Given the description of an element on the screen output the (x, y) to click on. 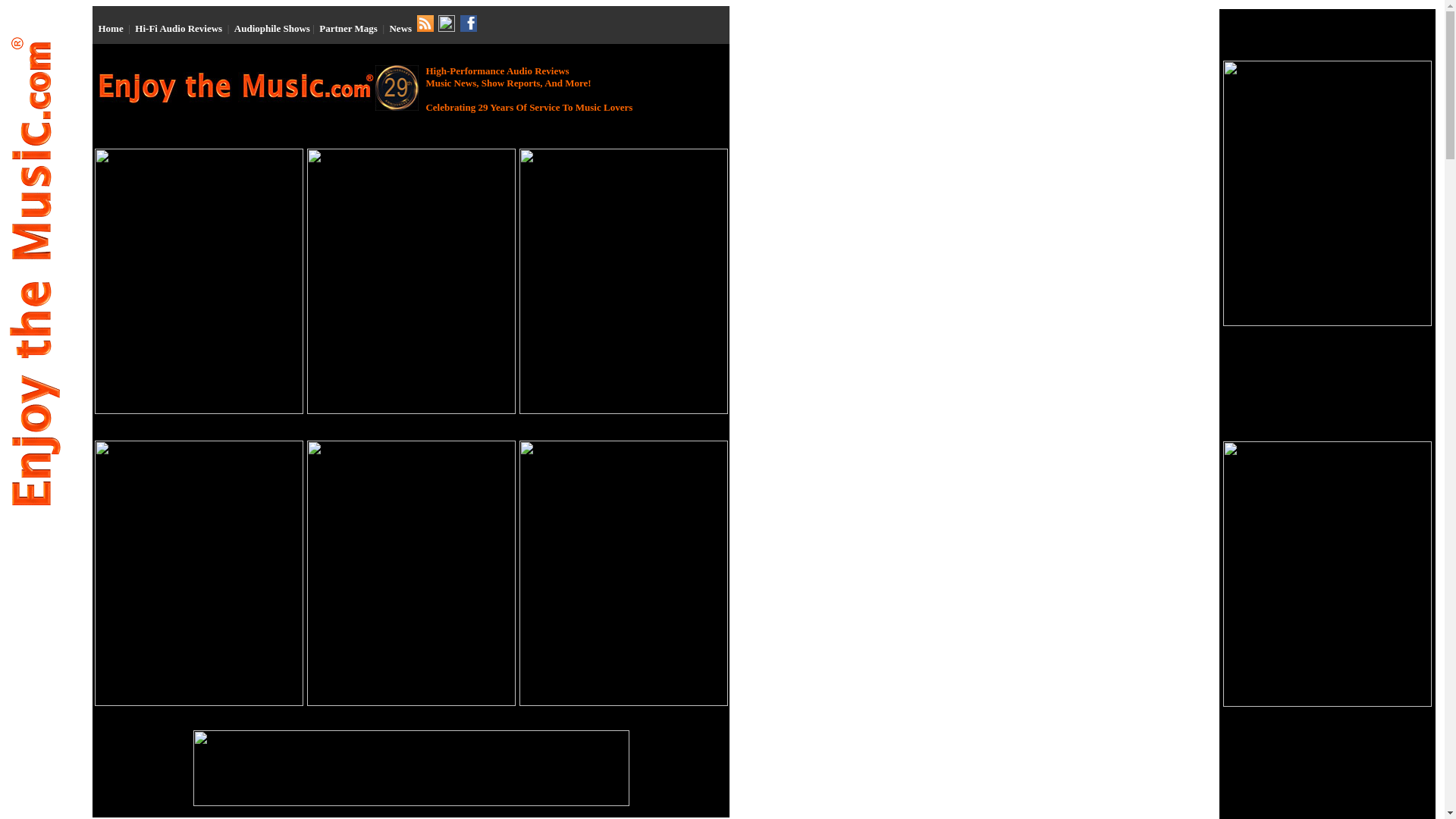
Audiophile Shows (272, 28)
Partner Mags (347, 28)
Hi-Fi Audio Reviews (178, 28)
Home (111, 28)
News (400, 28)
